Given the description of an element on the screen output the (x, y) to click on. 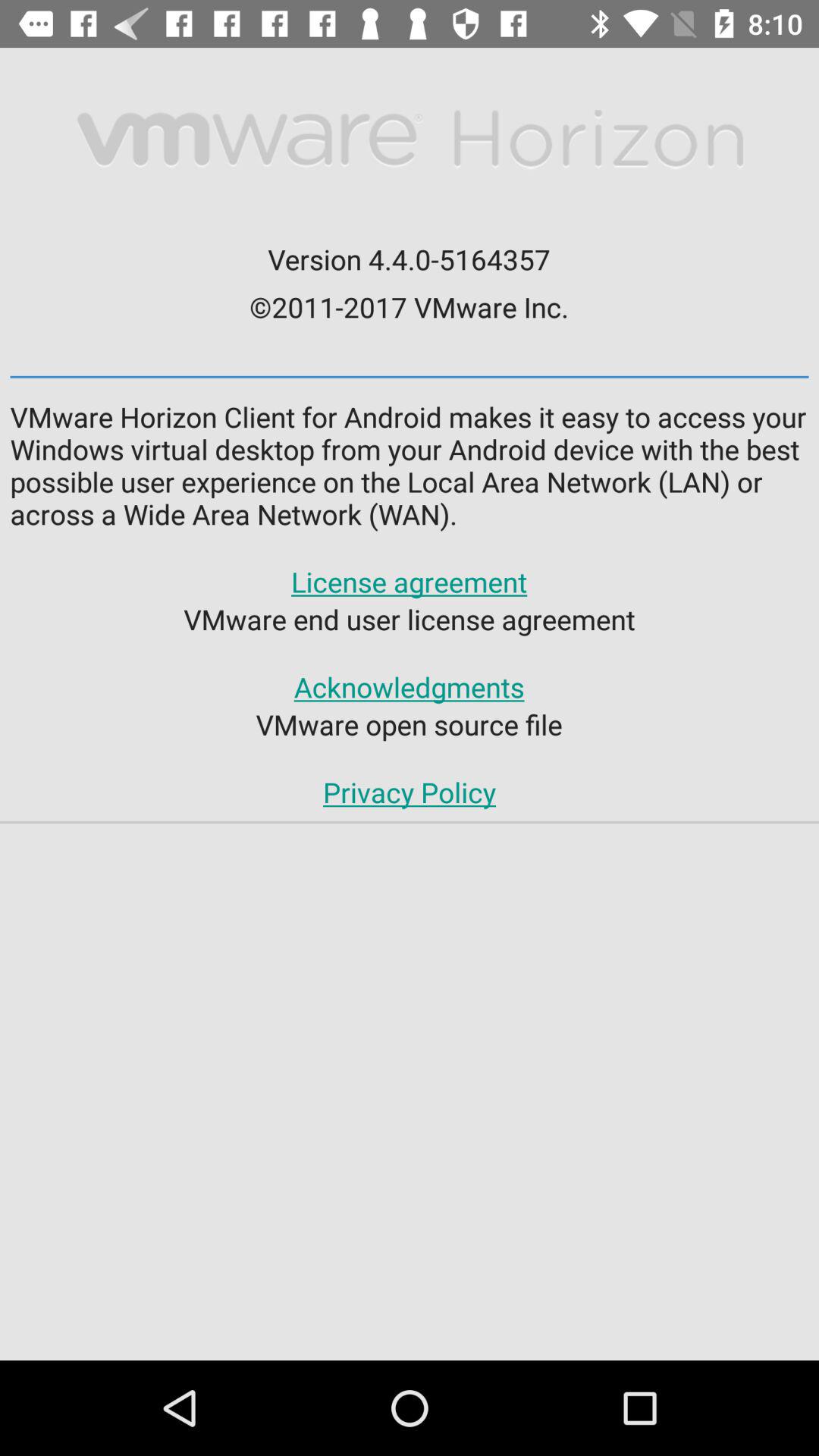
turn on icon below version 4 4 (408, 306)
